Given the description of an element on the screen output the (x, y) to click on. 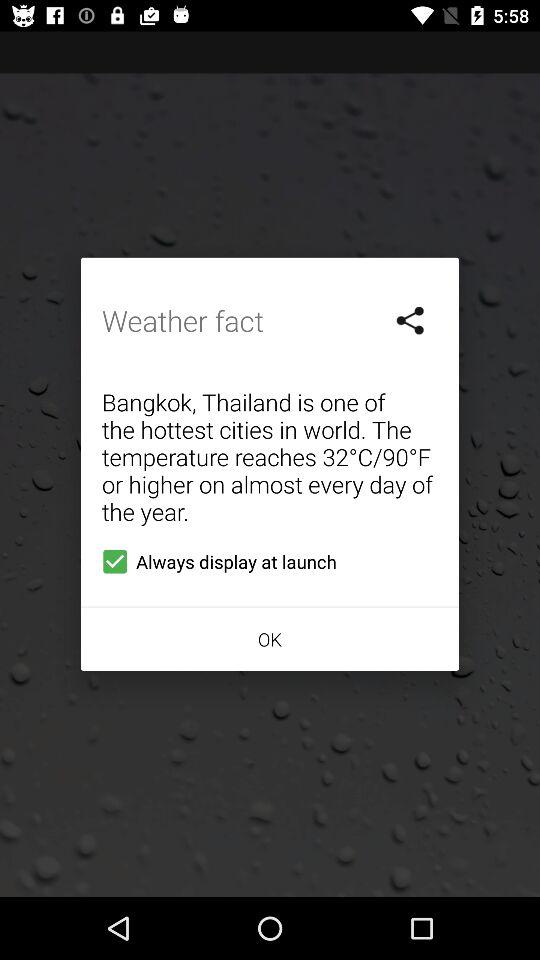
open the icon below the bangkok thailand is icon (215, 561)
